Given the description of an element on the screen output the (x, y) to click on. 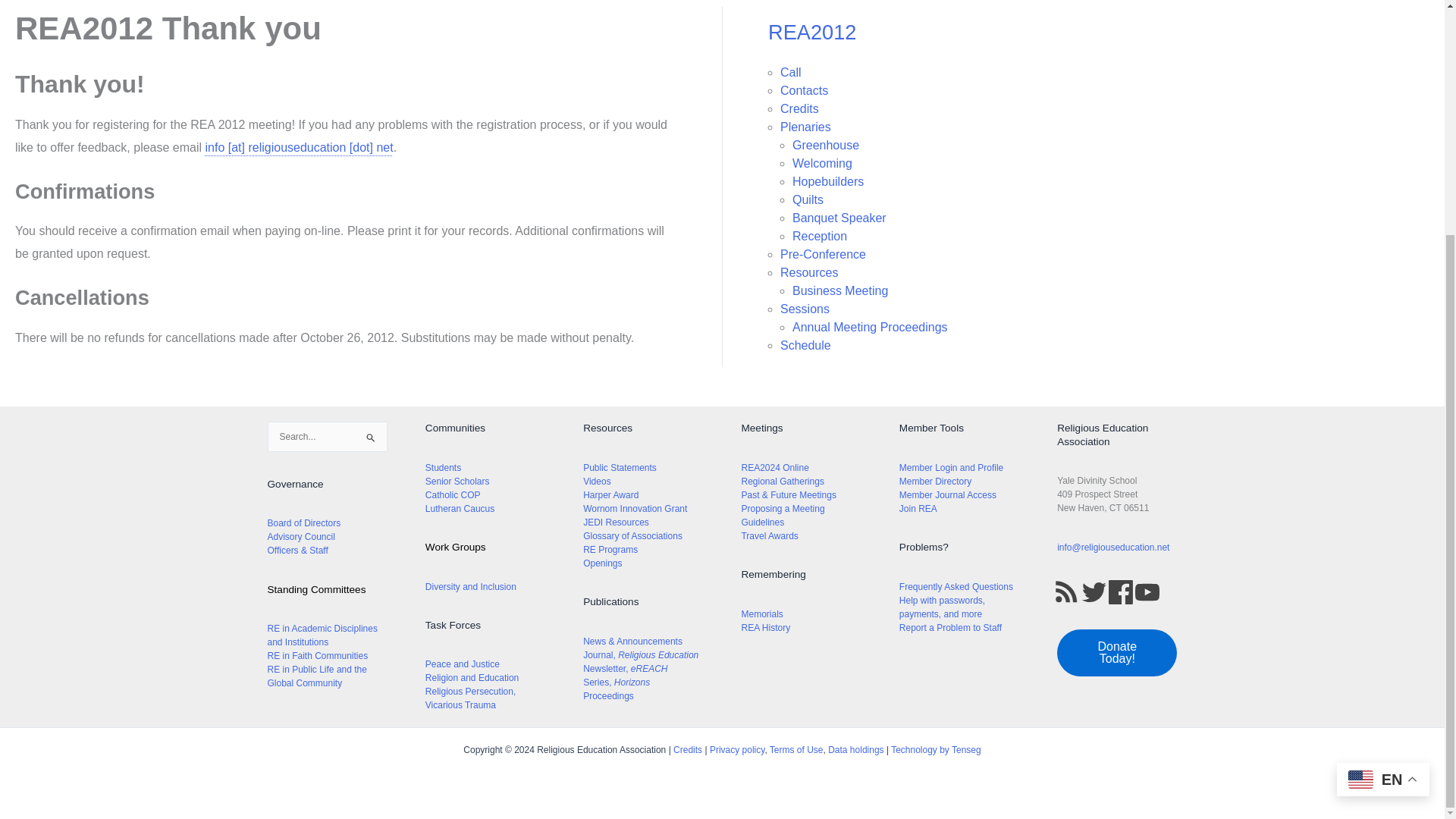
Search (370, 442)
YouTube (1146, 591)
Facebook (1120, 591)
Twitter (1093, 591)
Search (370, 442)
RSS Feed (1066, 591)
